Given the description of an element on the screen output the (x, y) to click on. 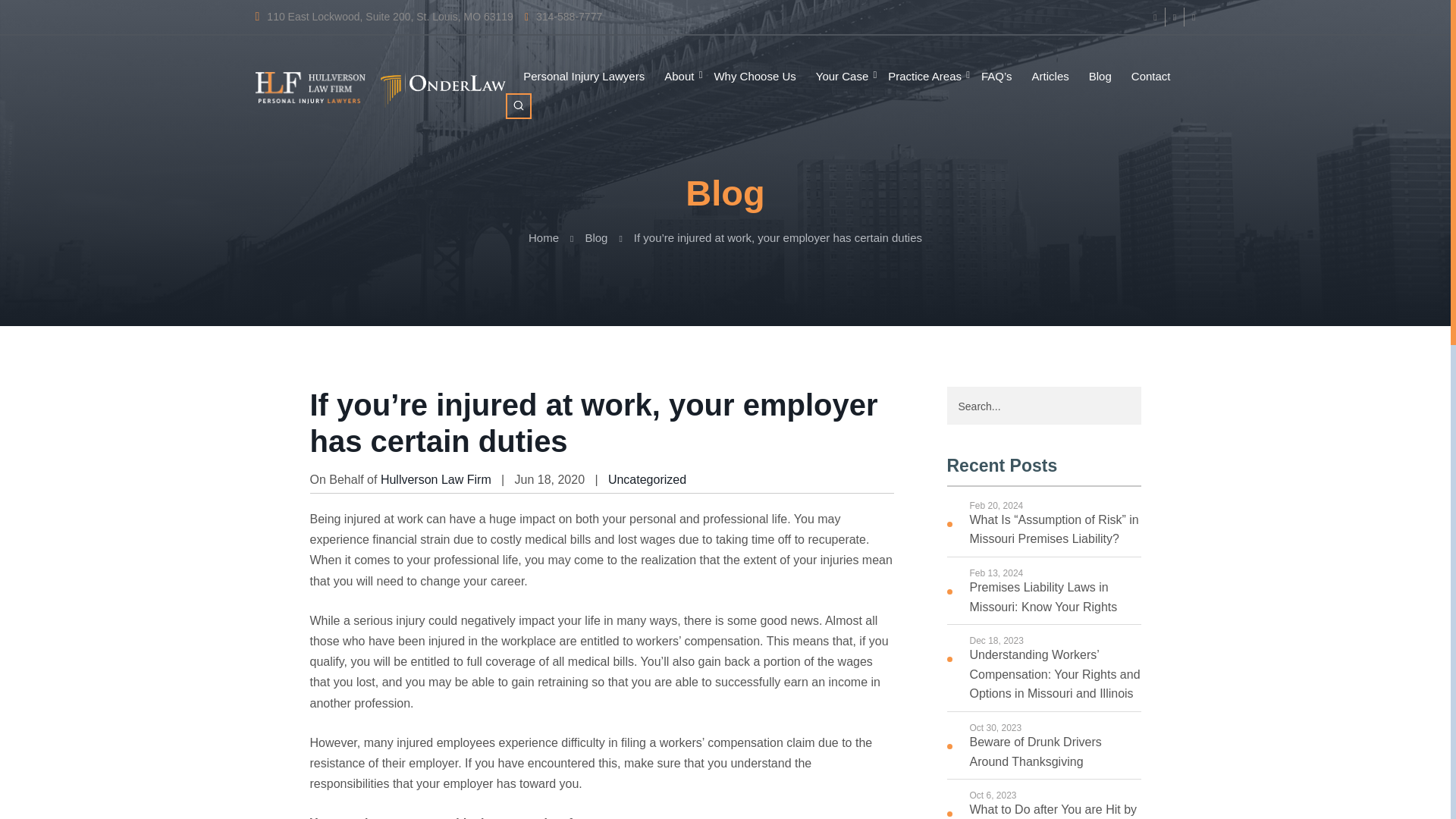
Your Case (841, 76)
About (678, 76)
314-588-7777 (563, 16)
Go to Hullverson Law Firm. (543, 237)
Go to Blog. (596, 237)
Practice Areas (924, 76)
Personal Injury Lawyers (583, 76)
Why Choose Us (754, 76)
